Given the description of an element on the screen output the (x, y) to click on. 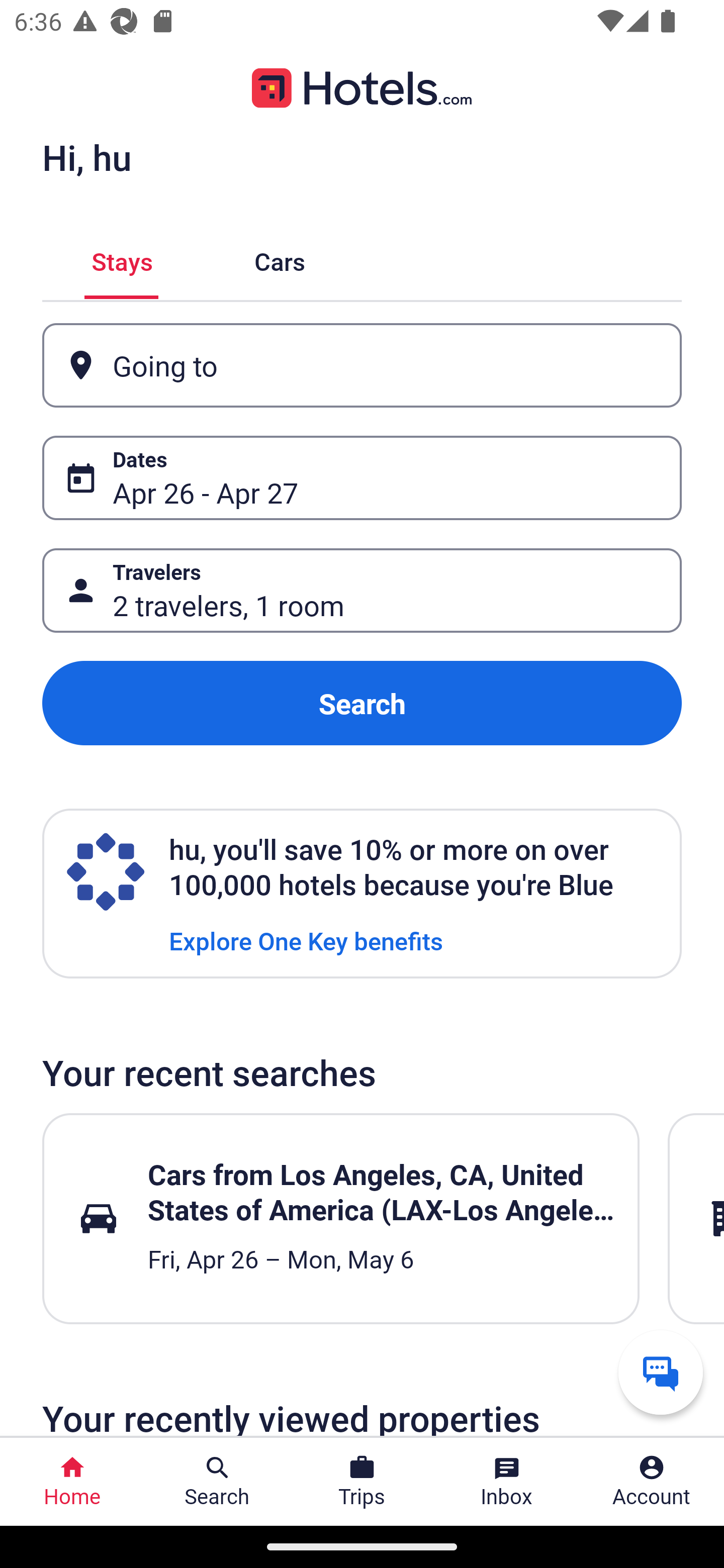
Hi, hu (86, 156)
Cars (279, 259)
Going to Button (361, 365)
Dates Button Apr 26 - Apr 27 (361, 477)
Travelers Button 2 travelers, 1 room (361, 590)
Search (361, 702)
Get help from a virtual agent (660, 1371)
Search Search Button (216, 1481)
Trips Trips Button (361, 1481)
Inbox Inbox Button (506, 1481)
Account Profile. Button (651, 1481)
